Given the description of an element on the screen output the (x, y) to click on. 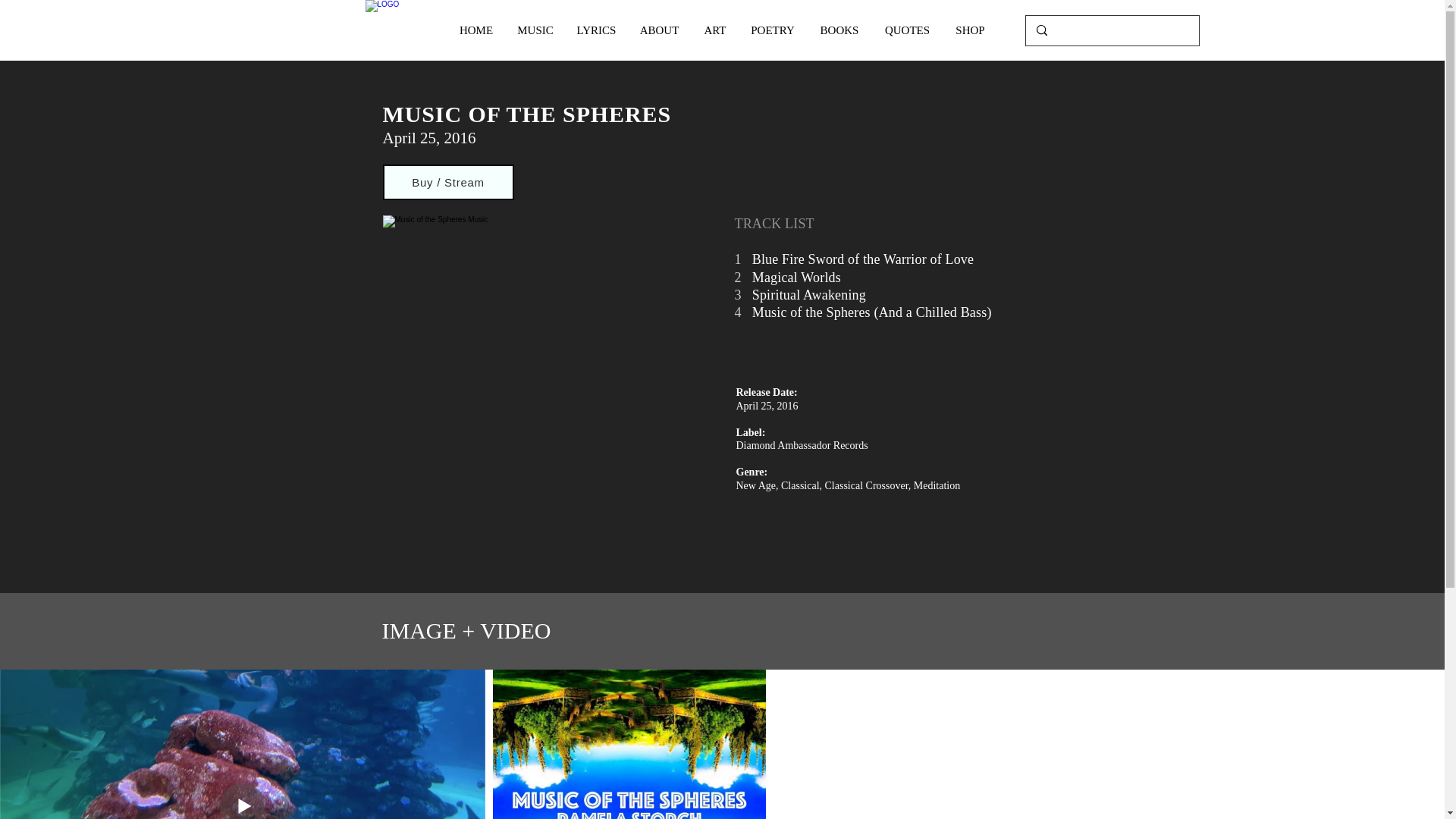
BOOKS (838, 29)
MUSIC (534, 29)
SHOP (970, 29)
QUOTES (907, 29)
ABOUT (658, 29)
HOME (475, 29)
ART (714, 29)
POETRY (773, 29)
LYRICS (596, 29)
